Given the description of an element on the screen output the (x, y) to click on. 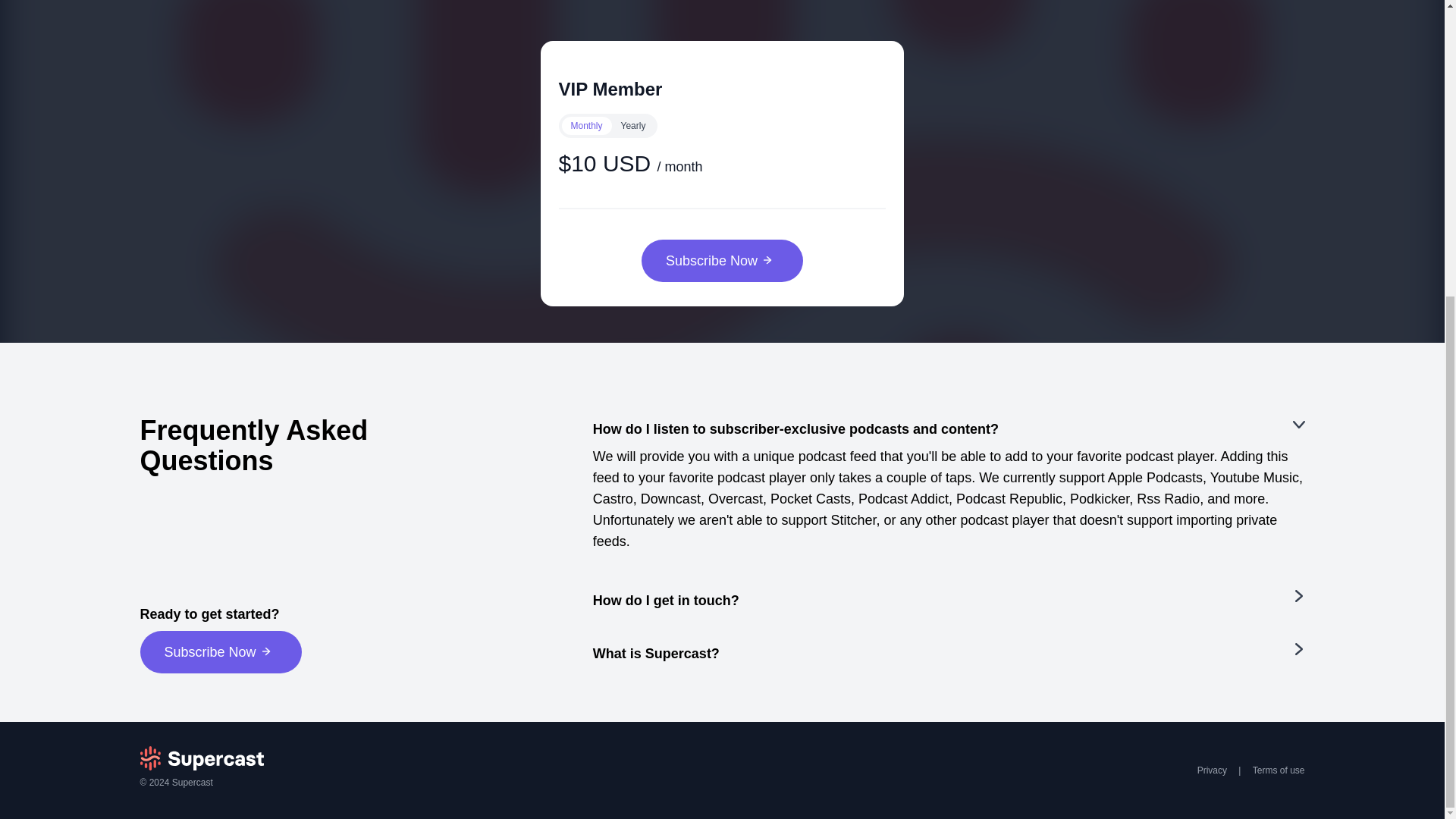
Supercast (191, 782)
Subscribe Now (722, 260)
Subscribe Now (220, 651)
Terms of use (1278, 769)
Privacy (1211, 769)
